Given the description of an element on the screen output the (x, y) to click on. 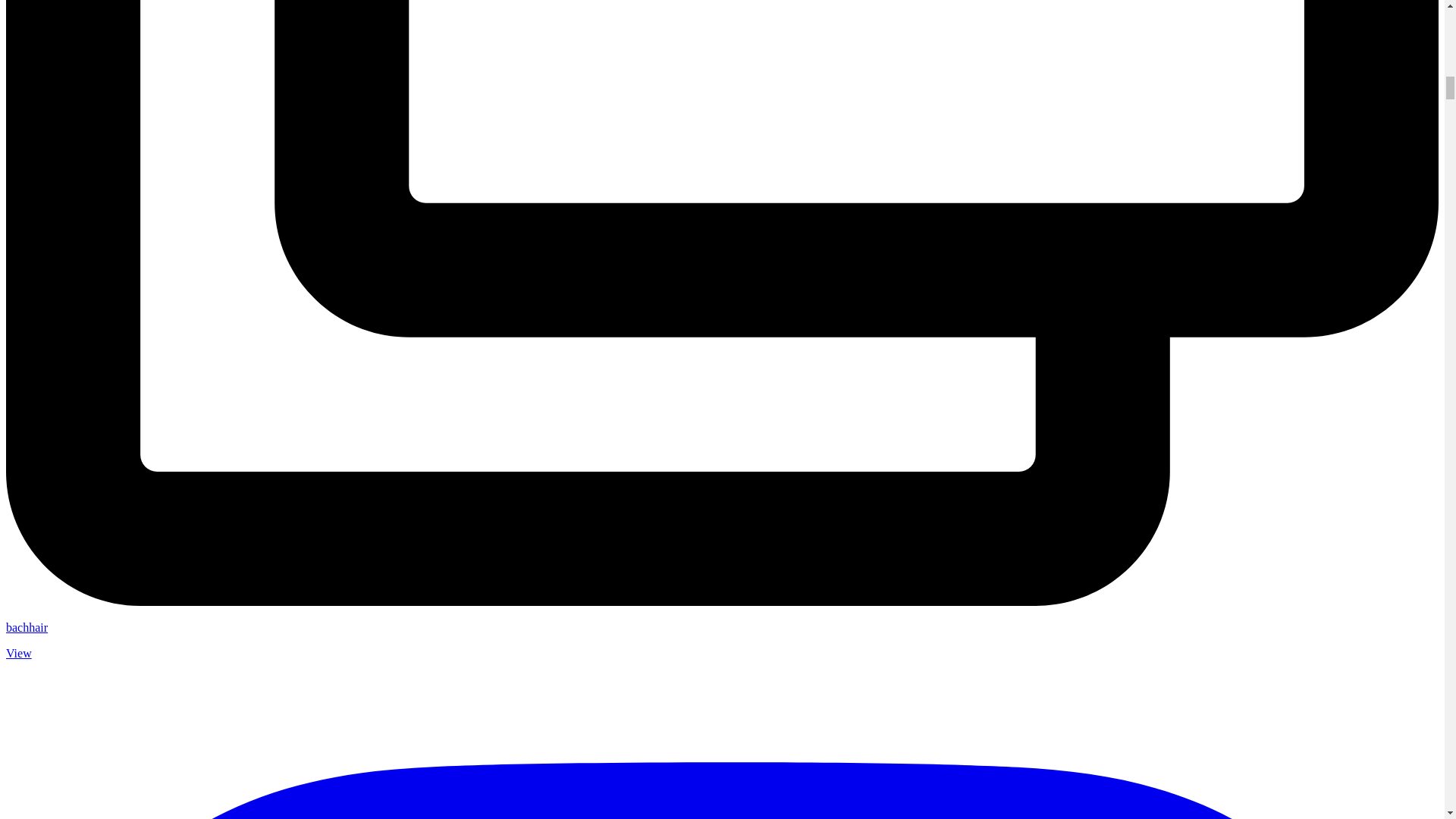
bachhair (26, 626)
